Given the description of an element on the screen output the (x, y) to click on. 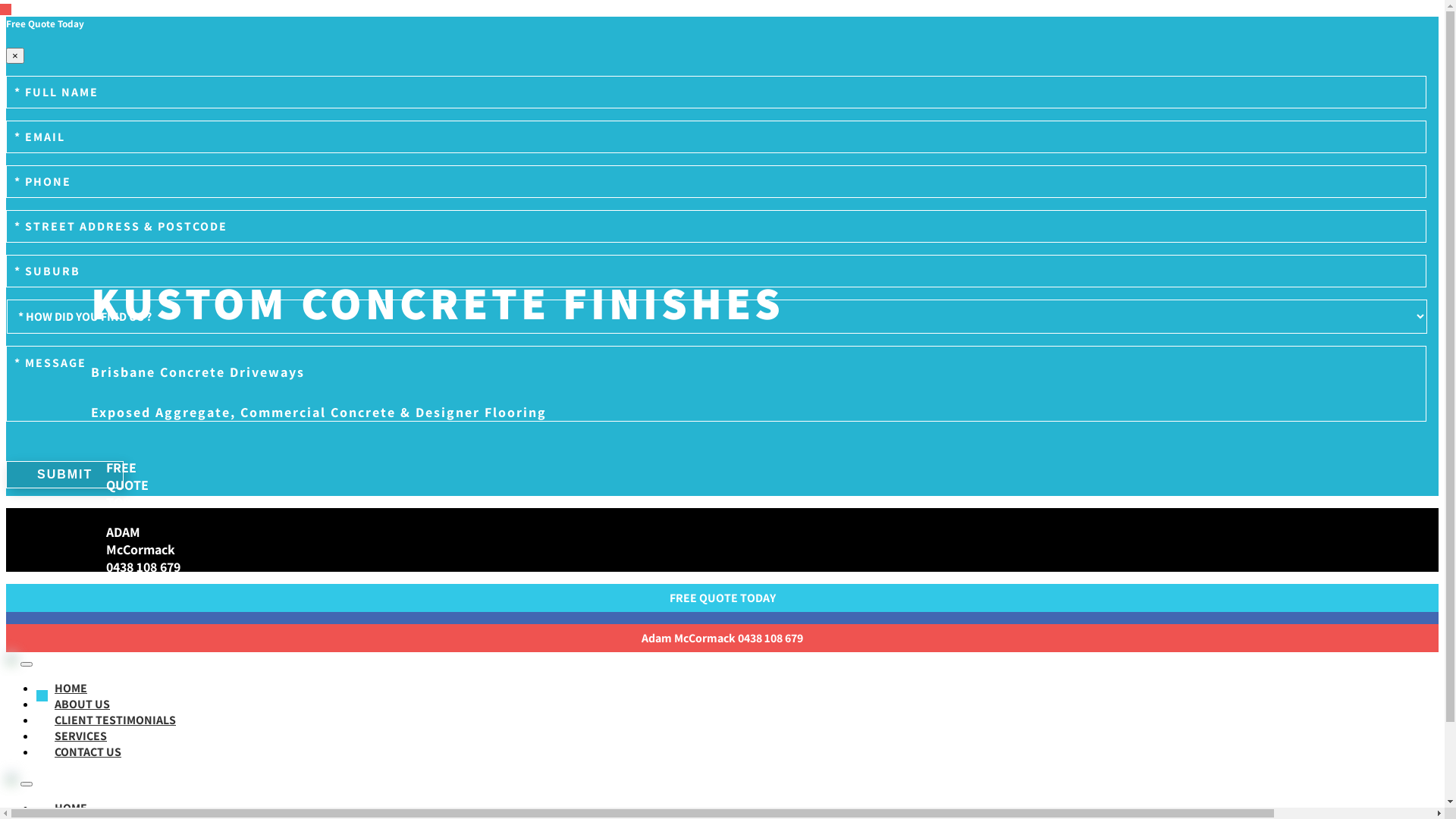
HOME Element type: text (70, 688)
CLIENT TESTIMONIALS Element type: text (115, 720)
ABOUT US Element type: text (82, 704)
Submit Element type: text (64, 474)
SERVICES Element type: text (80, 735)
ADAM
McCormack
0438 108 679 Element type: text (143, 549)
CONTACT US Element type: text (87, 751)
FREE QUOTE TODAY Element type: text (721, 597)
Adam McCormack 0438 108 679 Element type: text (722, 638)
HOME Element type: text (70, 807)
FREE
QUOTE
TODAY Element type: text (127, 484)
